Given the description of an element on the screen output the (x, y) to click on. 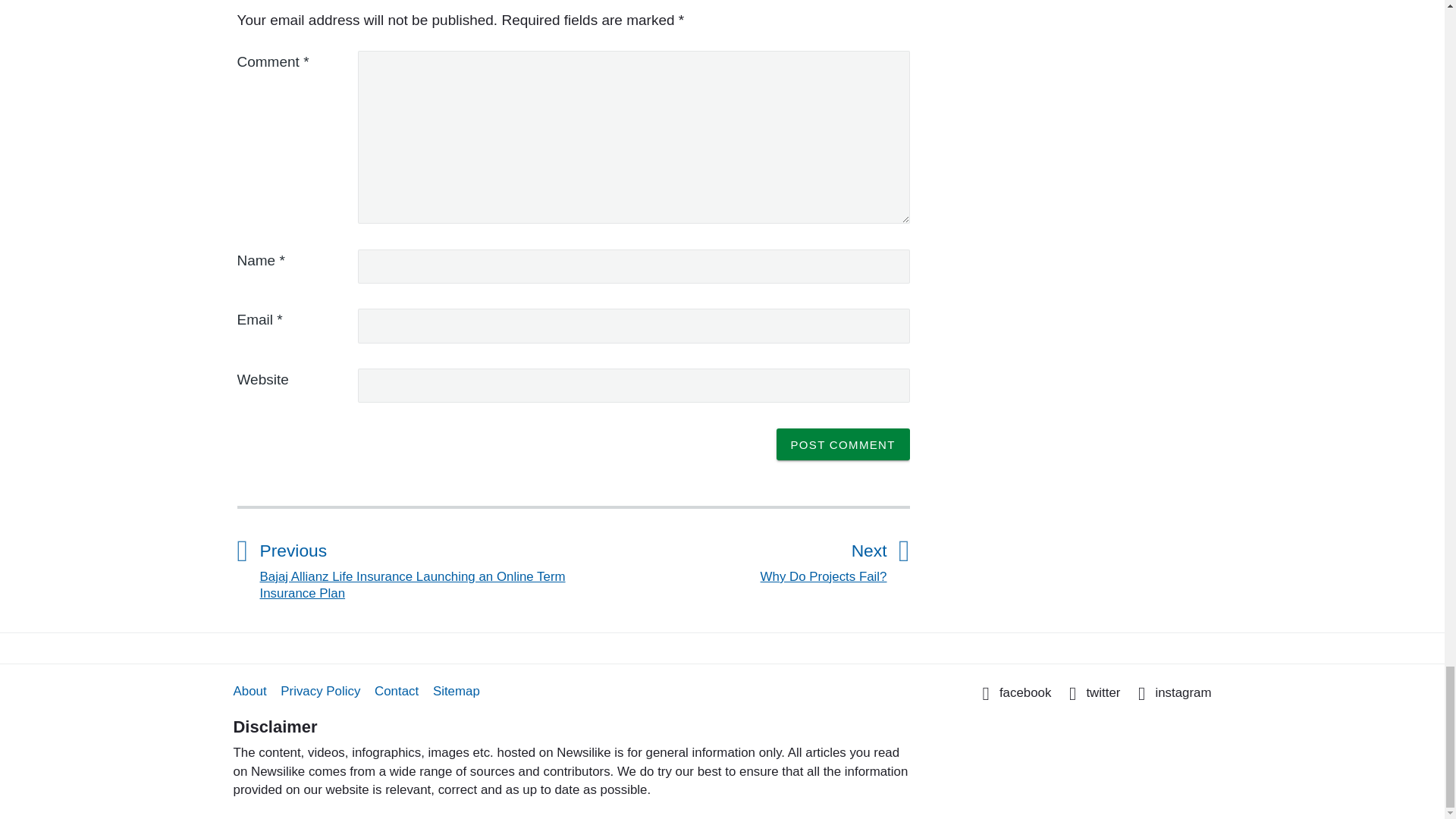
Post Comment (843, 444)
Post Comment (729, 559)
